Given the description of an element on the screen output the (x, y) to click on. 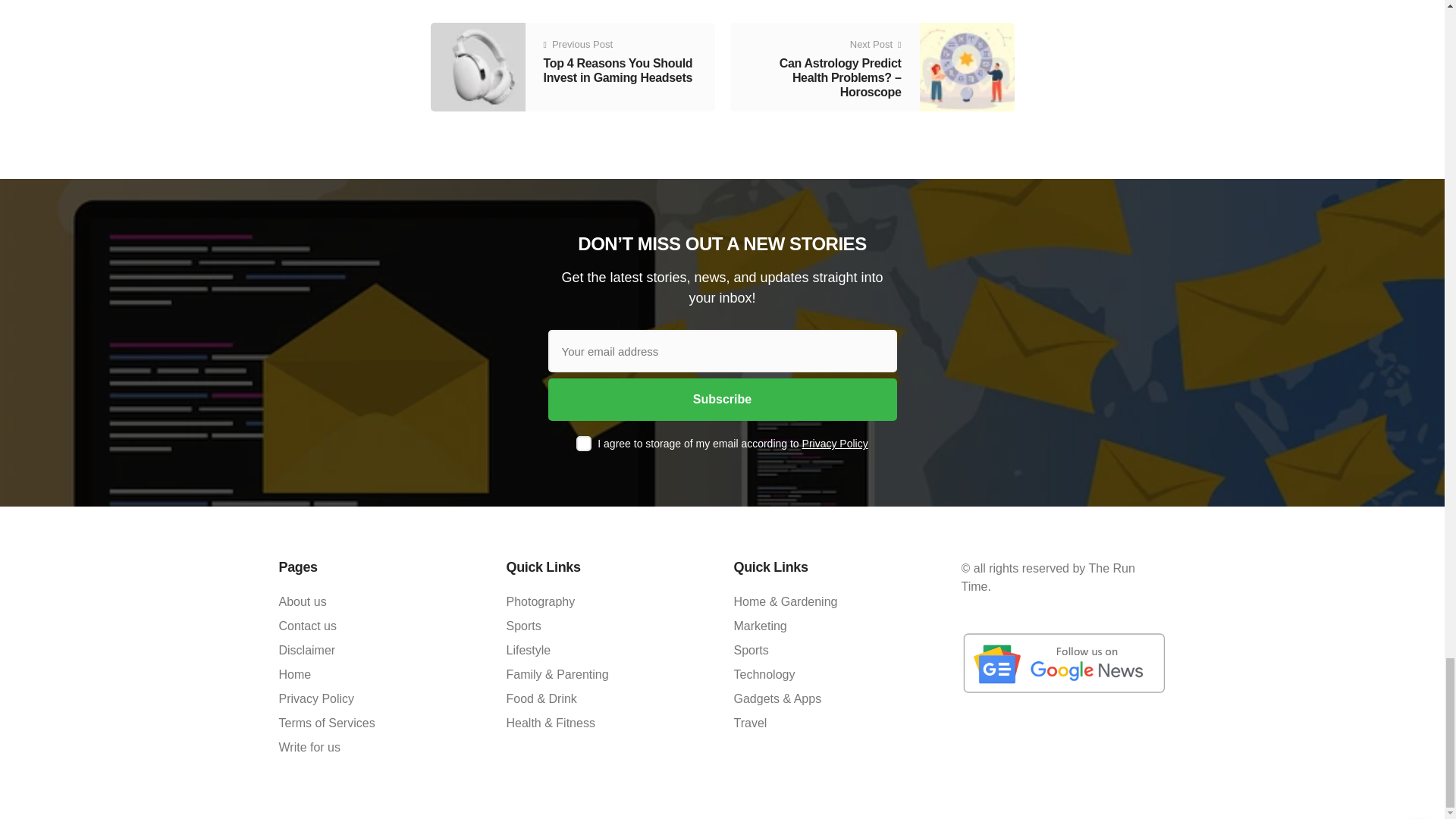
1 (583, 443)
Subscribe (721, 399)
